Given the description of an element on the screen output the (x, y) to click on. 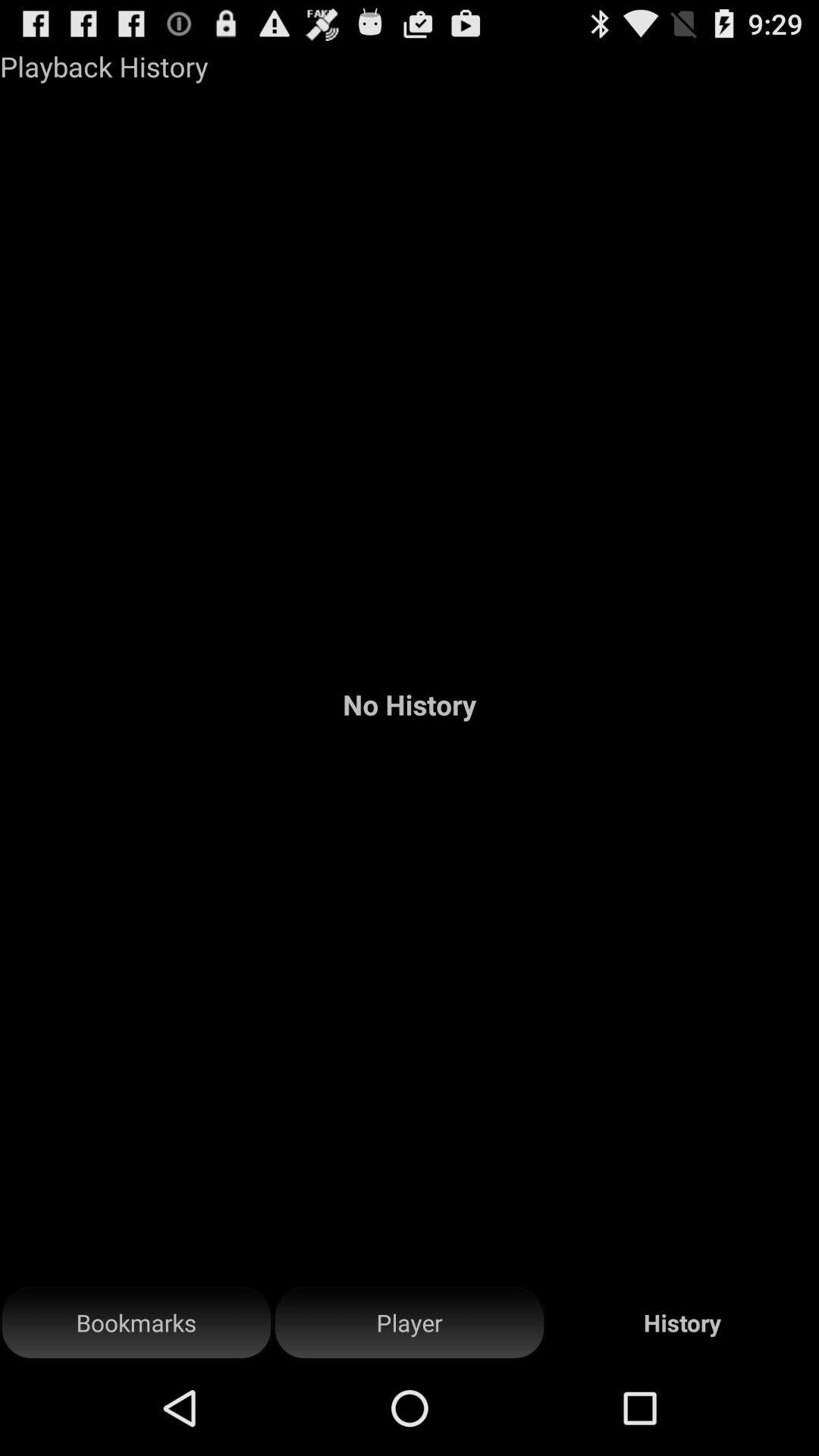
open button next to bookmarks icon (409, 1323)
